Given the description of an element on the screen output the (x, y) to click on. 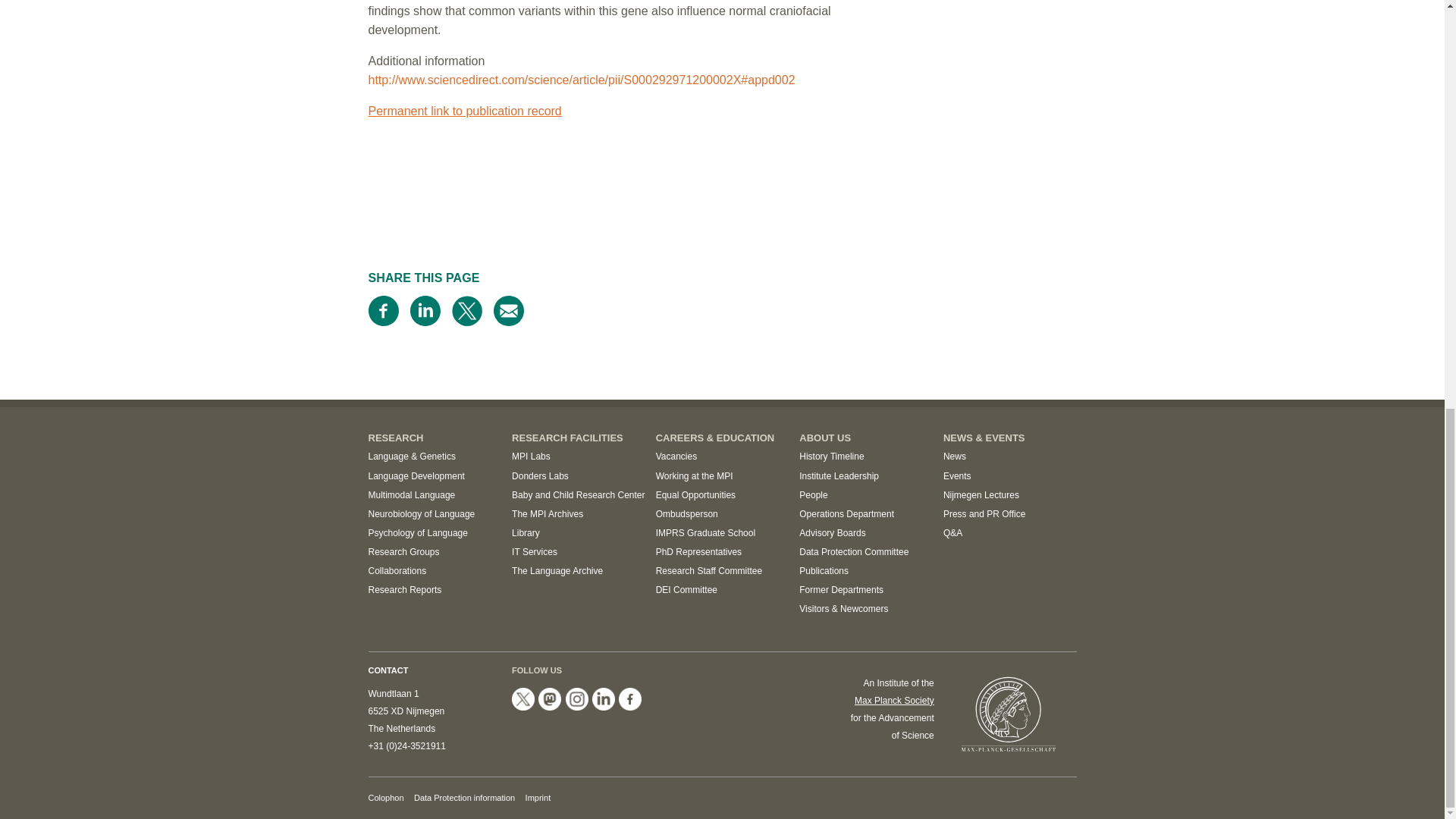
Facebook (383, 310)
Instagram (577, 698)
Psychology of Language (417, 532)
Twitter (466, 310)
The Language Archive (557, 570)
Email (507, 310)
Jobs listing (676, 456)
X (523, 698)
Baby and Child Research Center (578, 494)
Donders Labs (540, 475)
